Given the description of an element on the screen output the (x, y) to click on. 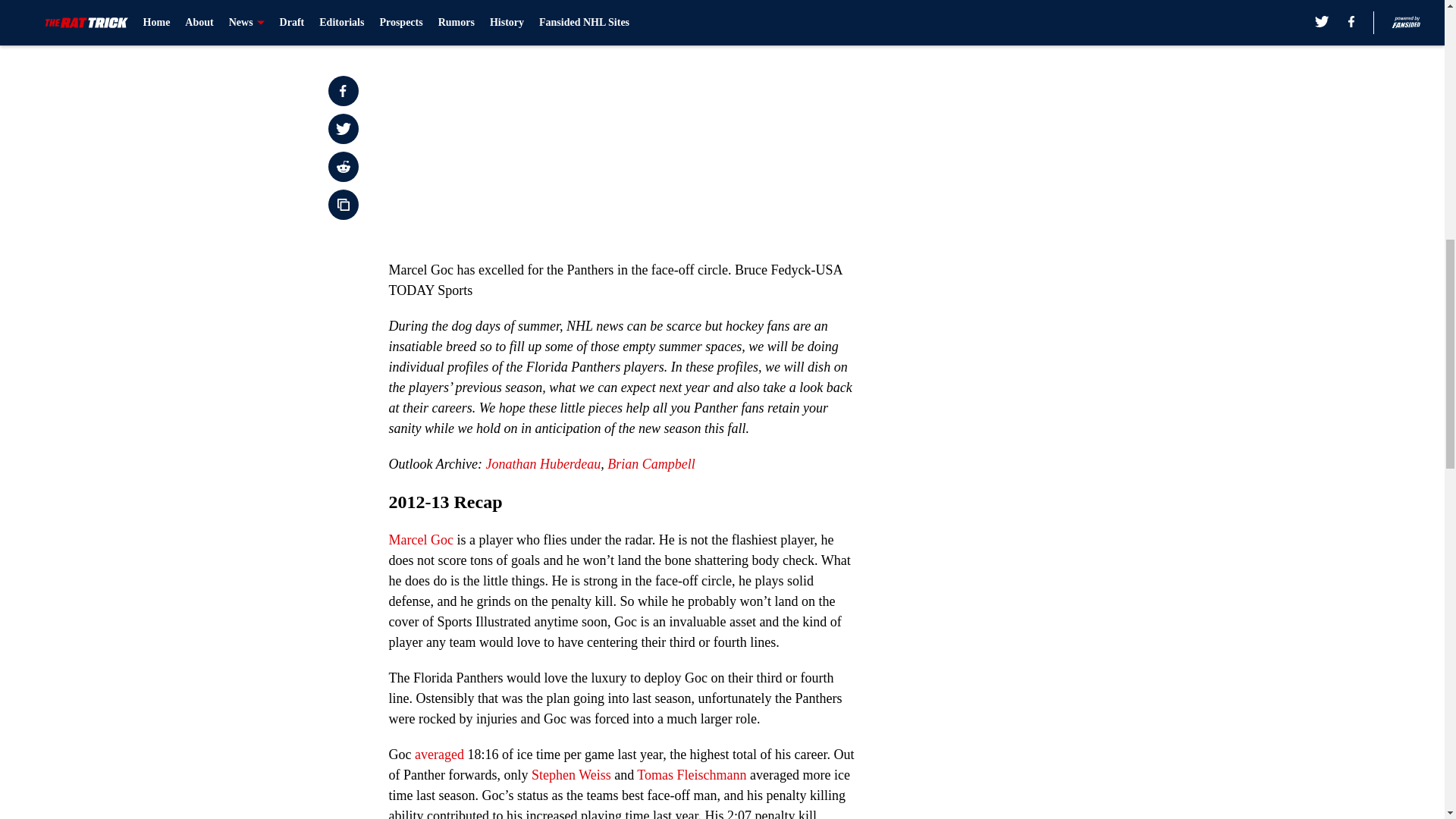
Tomas Fleischmann (691, 774)
Brian Campbell (651, 463)
averaged (439, 754)
Marcel Goc (420, 539)
Stephen Weiss (571, 774)
Jonathan Huberdeau (541, 463)
